Given the description of an element on the screen output the (x, y) to click on. 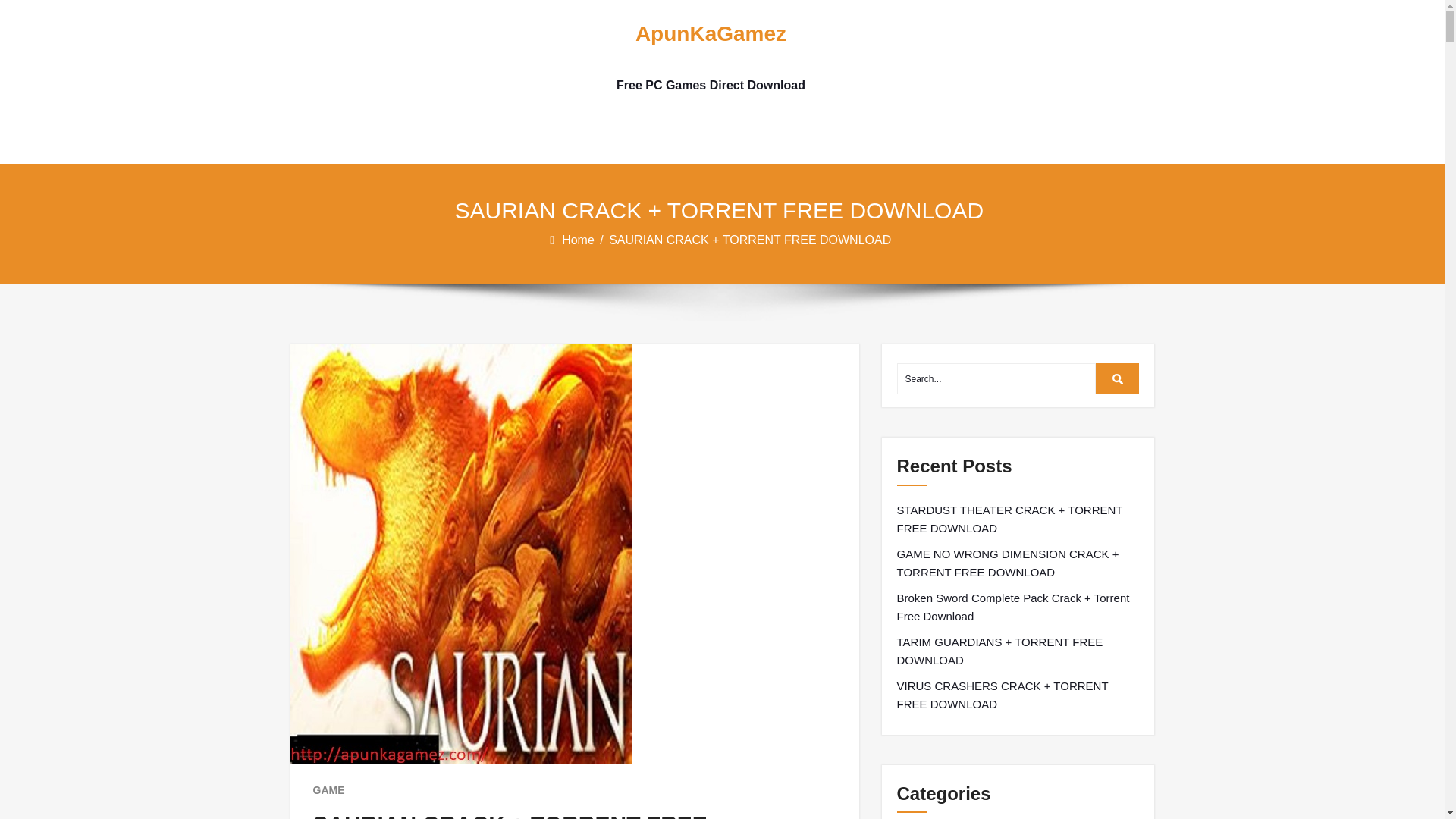
GAME (328, 789)
ApunKaGamez (710, 34)
Search (1118, 378)
Home (579, 239)
